Given the description of an element on the screen output the (x, y) to click on. 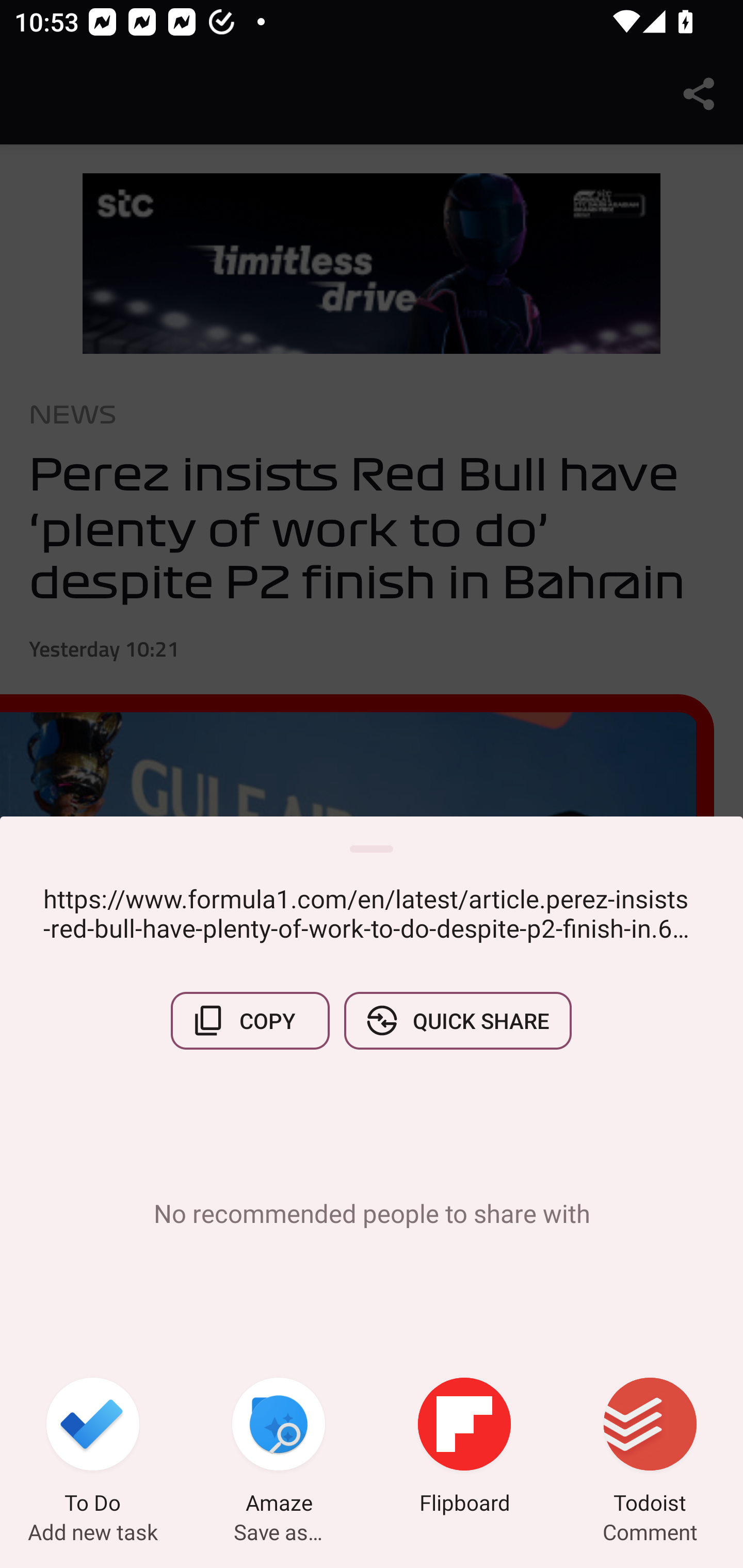
COPY (249, 1020)
QUICK SHARE (457, 1020)
To Do Add new task (92, 1448)
Amaze Save as… (278, 1448)
Flipboard (464, 1448)
Todoist Comment (650, 1448)
